Given the description of an element on the screen output the (x, y) to click on. 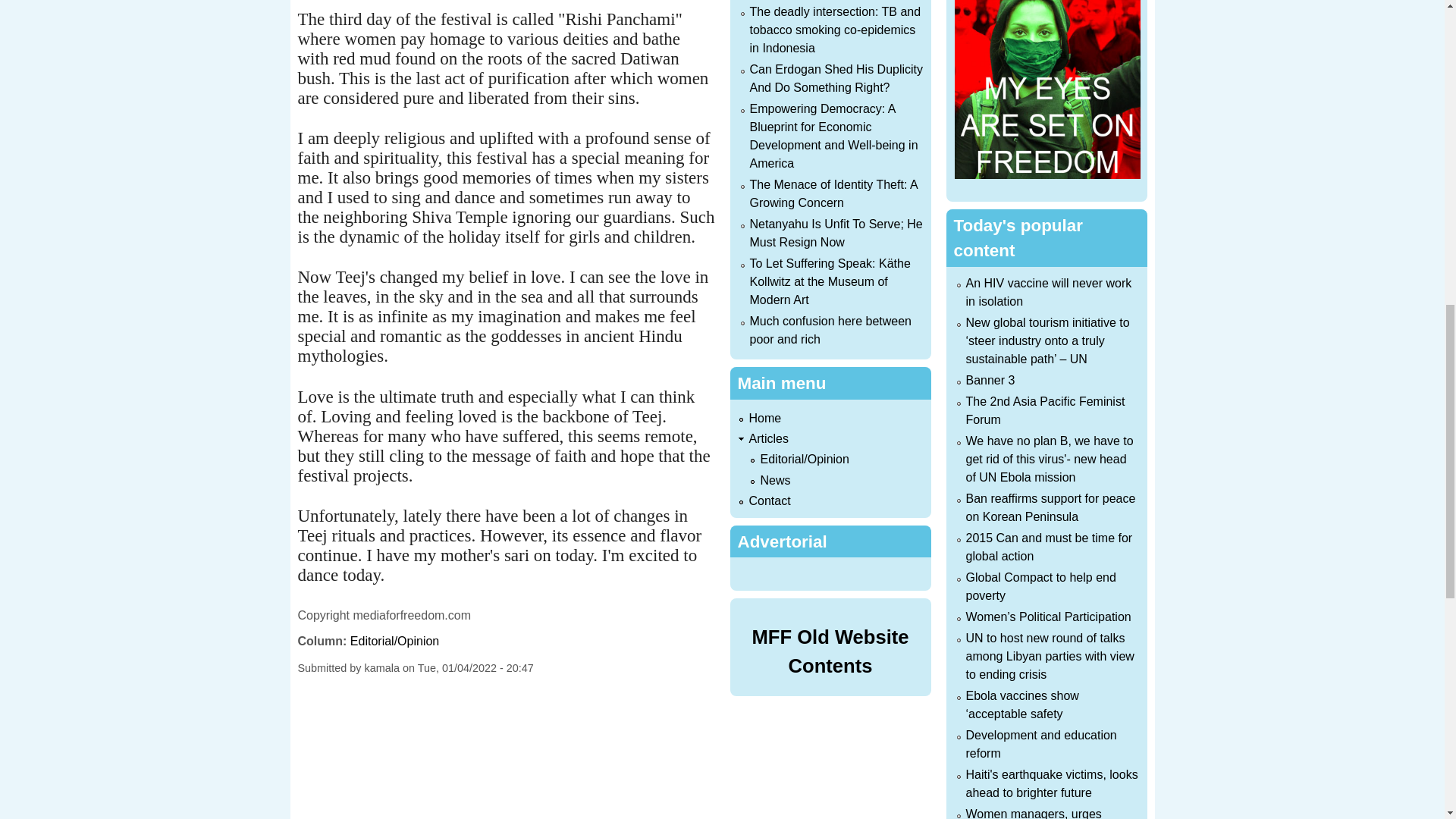
News (775, 480)
MFF Old Website Contents (829, 651)
Editorial Opinion (804, 459)
Contact (769, 500)
The 2nd Asia Pacific Feminist Forum (1045, 409)
An HIV vaccine will never work in isolation (1049, 291)
Articles (769, 438)
